Given the description of an element on the screen output the (x, y) to click on. 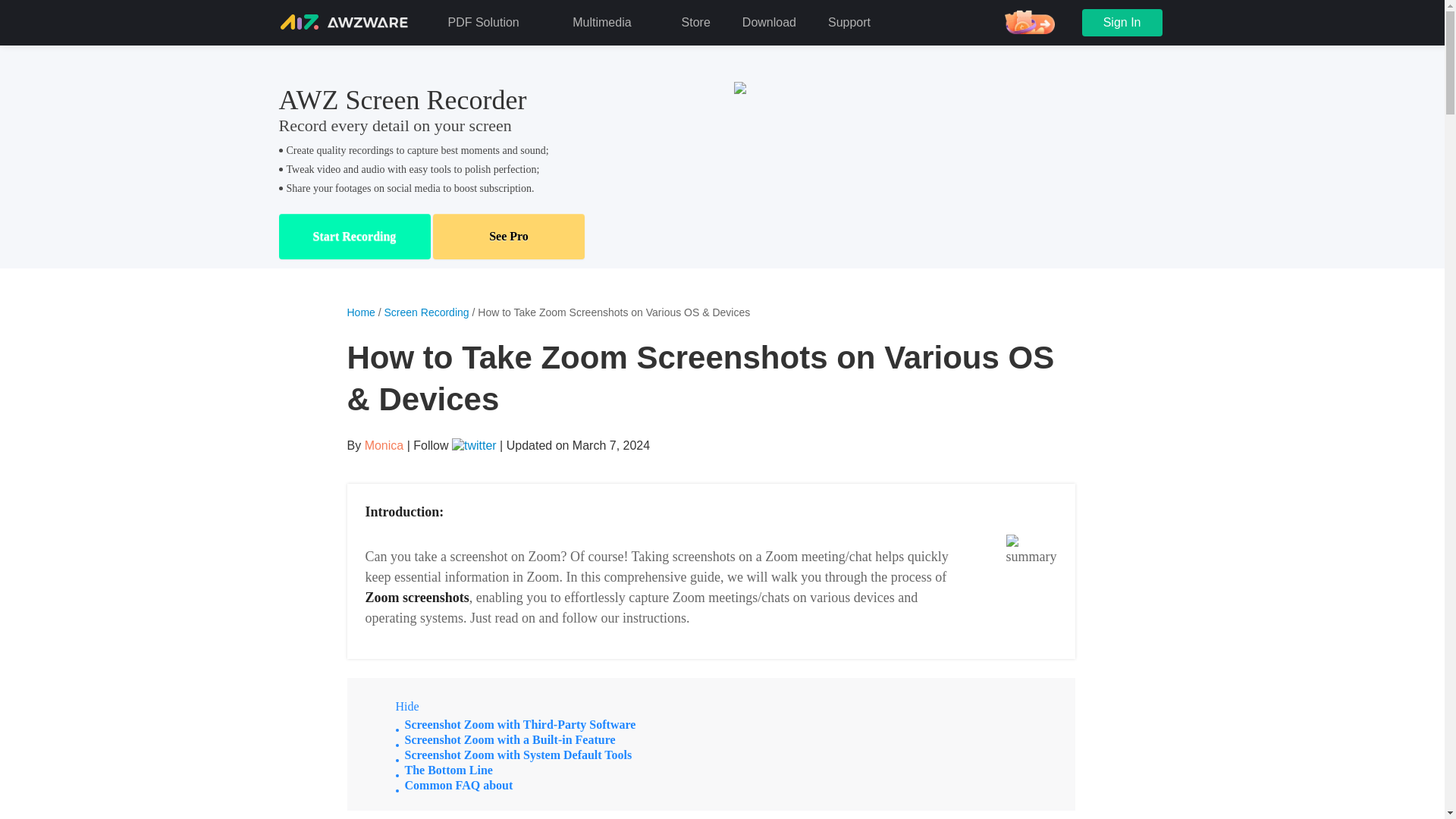
The Bottom Line (448, 769)
See Pro (508, 236)
Screenshot Zoom with System Default Tools (517, 754)
Store (695, 22)
Multimedia (610, 22)
Sign In (1121, 22)
Screenshot Zoom with a Built-in Feature (509, 739)
Support (848, 22)
Screenshot Zoom with Third-Party Software (520, 724)
Twitter (475, 445)
Download (769, 22)
Home (361, 312)
Screen Recording (427, 312)
Common FAQ about (458, 784)
PDF Solution (494, 22)
